Given the description of an element on the screen output the (x, y) to click on. 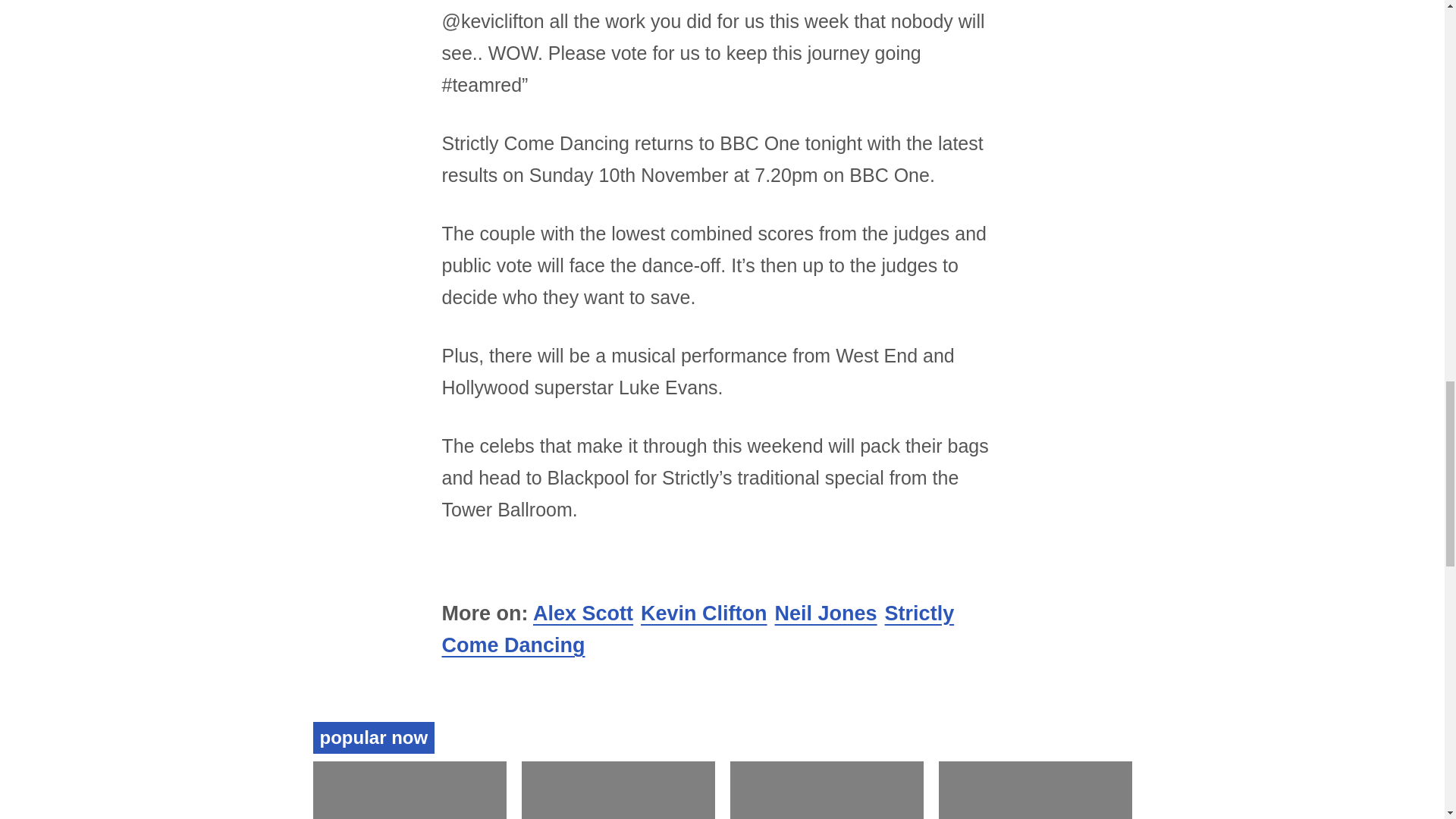
Neil Jones (825, 612)
Alex Scott (582, 612)
Kevin Clifton (703, 612)
Strictly Come Dancing (697, 628)
